Given the description of an element on the screen output the (x, y) to click on. 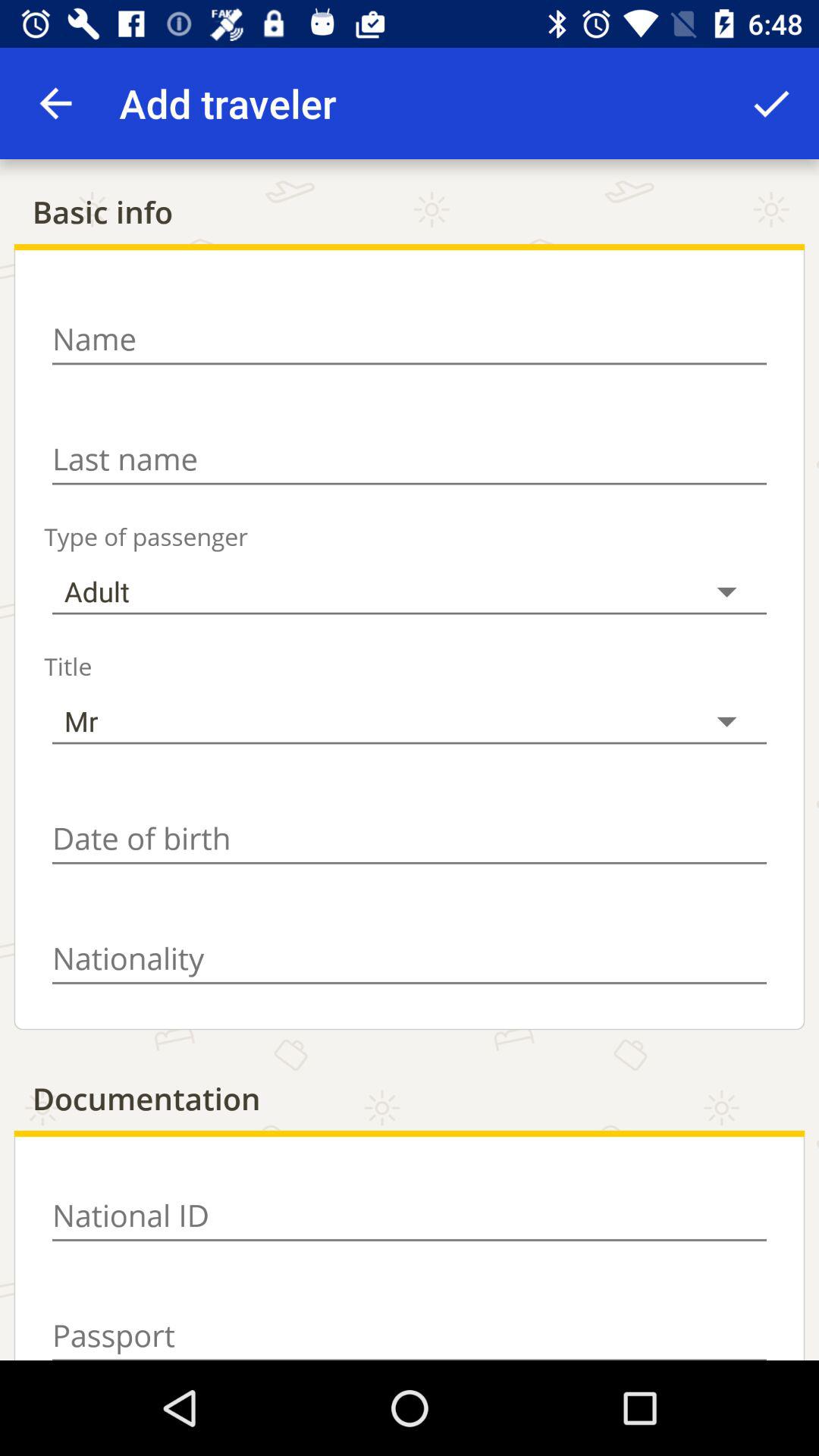
open text box for passport (409, 1327)
